Given the description of an element on the screen output the (x, y) to click on. 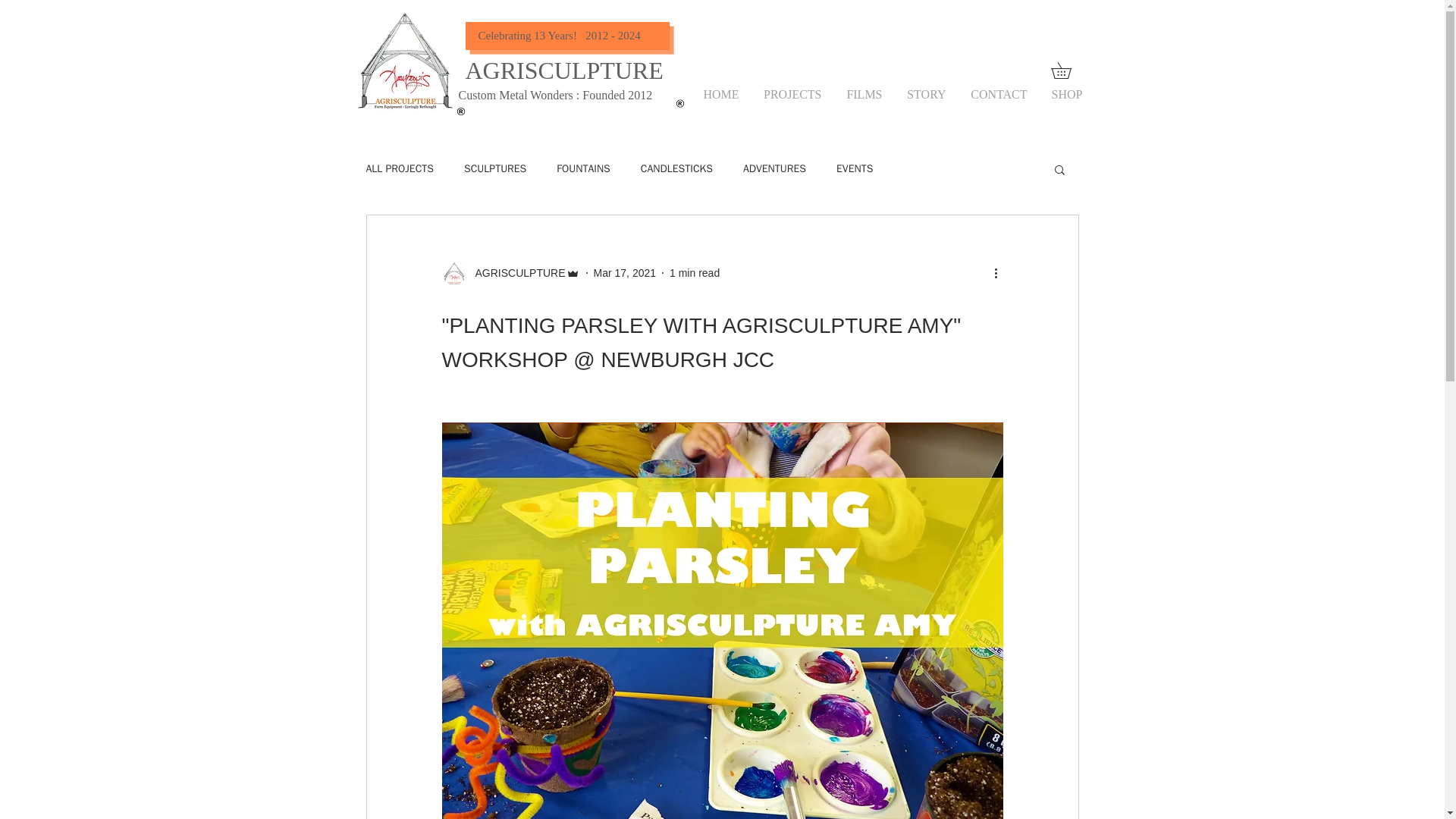
STORY (924, 94)
HOME (720, 94)
SCULPTURES (494, 169)
ADVENTURES (774, 169)
EVENTS (853, 169)
CONTACT (997, 94)
PROJECTS (791, 94)
ALL PROJECTS (399, 169)
FOUNTAINS (583, 169)
AGRISCULPTURE (514, 273)
